Given the description of an element on the screen output the (x, y) to click on. 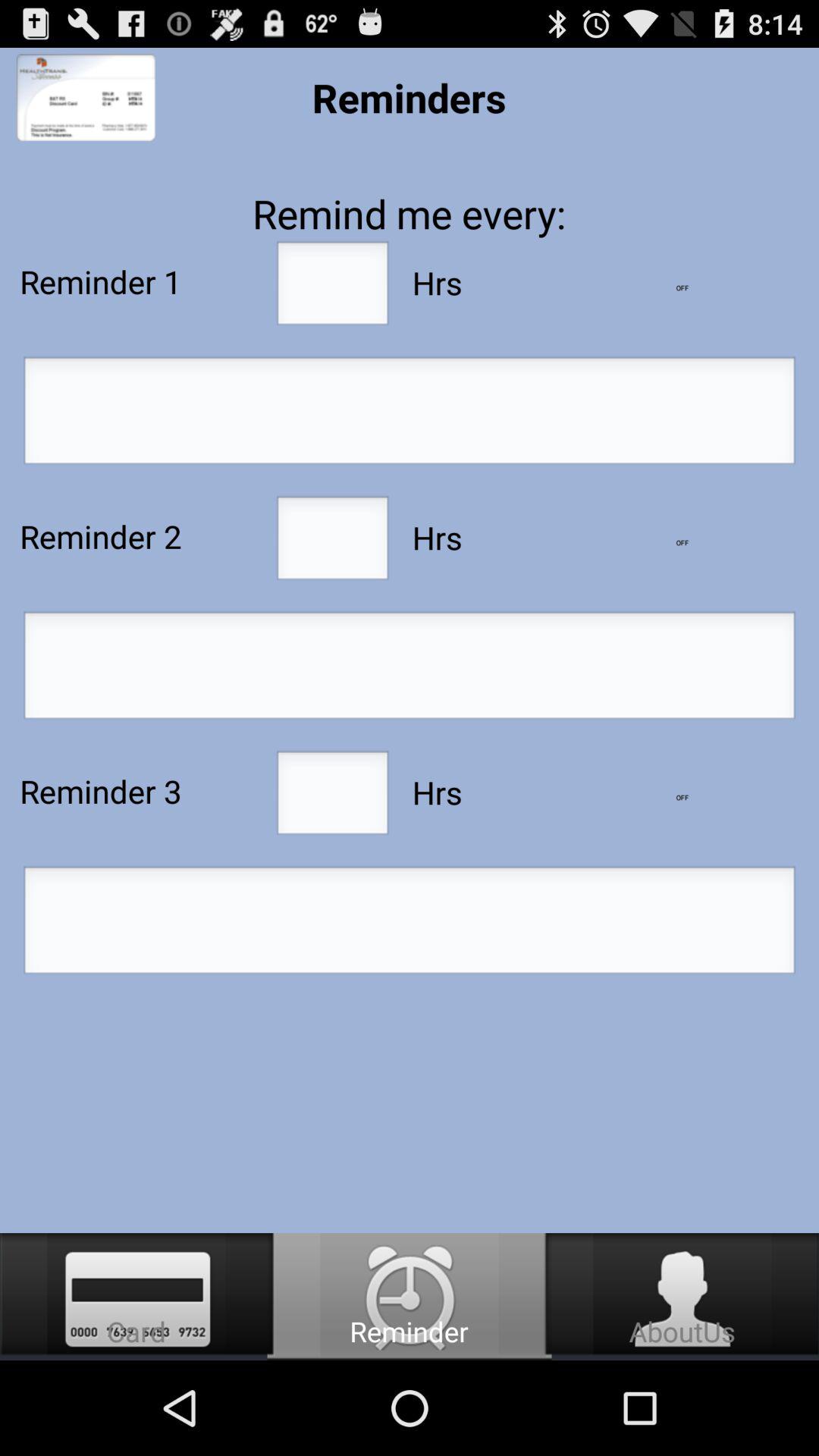
enter notes to remember (409, 924)
